Given the description of an element on the screen output the (x, y) to click on. 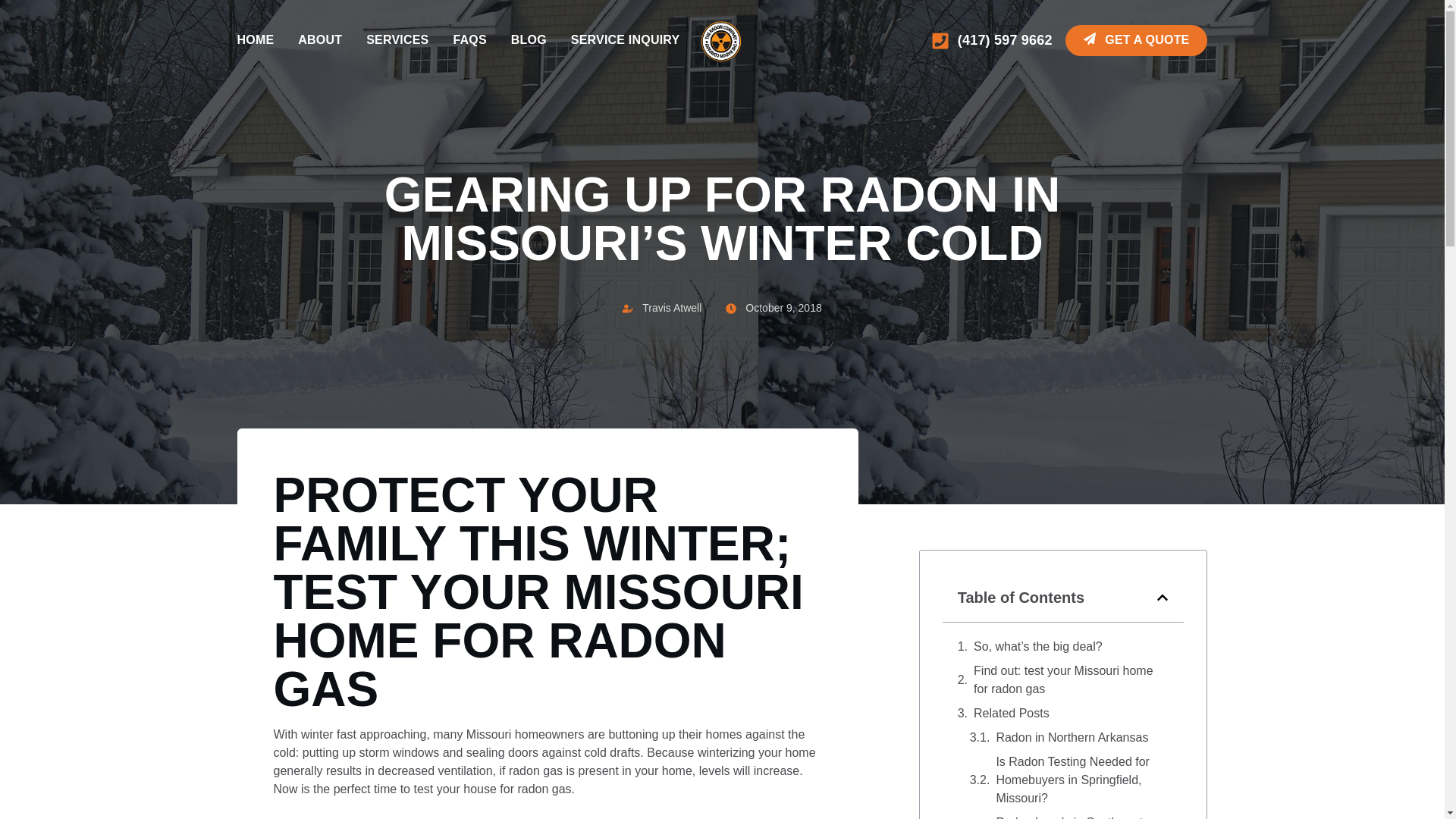
SERVICE INQUIRY (624, 40)
October 9, 2018 (773, 308)
HOME (254, 40)
Radon in Northern Arkansas (1071, 737)
GET A QUOTE (1136, 40)
Find out: test your Missouri home for radon gas (1071, 679)
Related Posts (1011, 713)
SERVICES (397, 40)
ABOUT (320, 40)
Radon Levels in Southwest Missouri: Insights and Safety Tips (1082, 816)
Travis Atwell (662, 308)
